Given the description of an element on the screen output the (x, y) to click on. 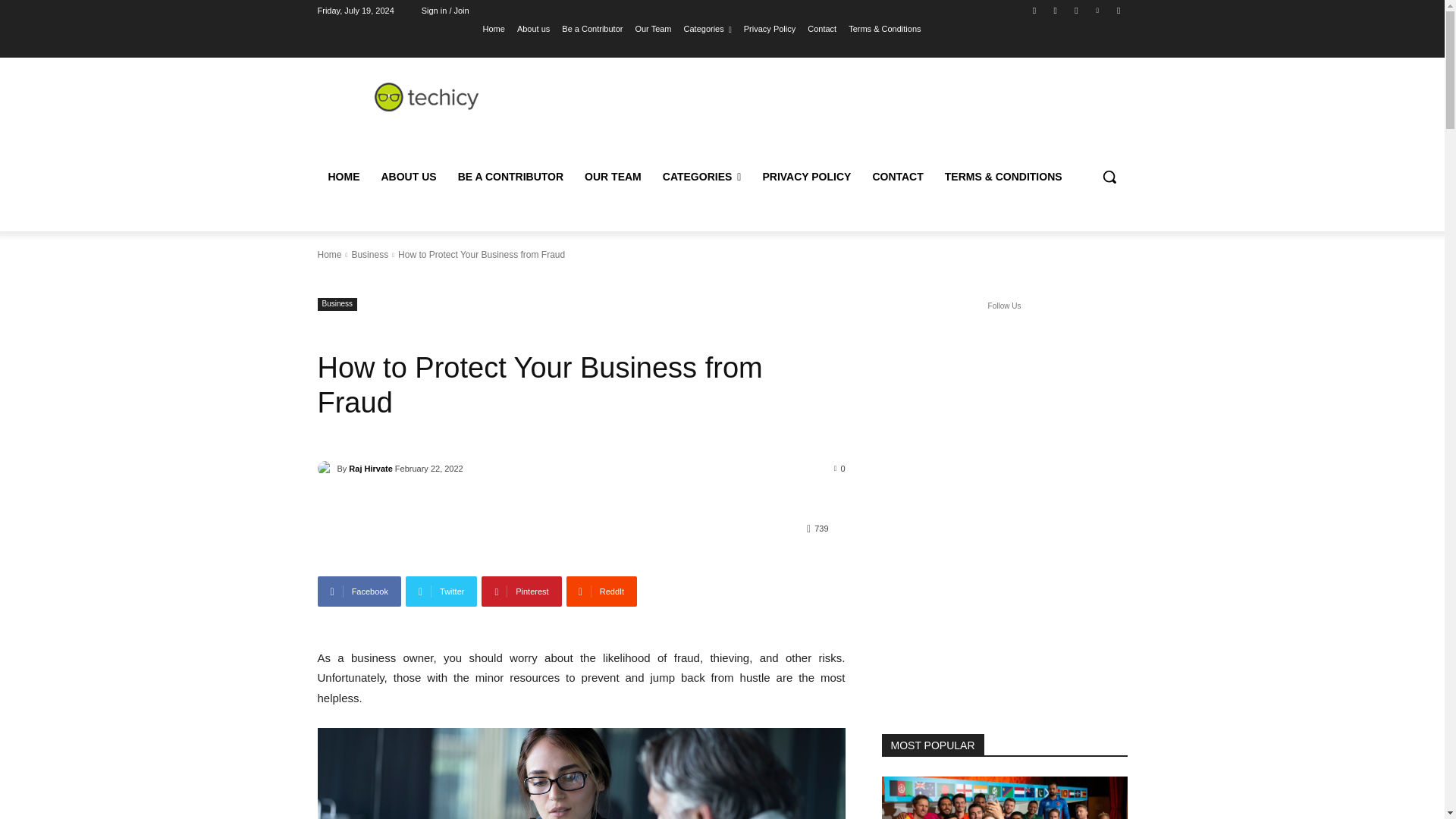
Twitter (1075, 9)
Facebook (358, 591)
View all posts in Business (369, 254)
Privacy Policy (769, 28)
Facebook (1034, 9)
About us (533, 28)
Vimeo (1097, 9)
Categories (708, 28)
Youtube (1117, 9)
Our Team (652, 28)
Raj Hirvate (326, 468)
Be a Contributor (592, 28)
Home (494, 28)
Contact (821, 28)
Instagram (1055, 9)
